Given the description of an element on the screen output the (x, y) to click on. 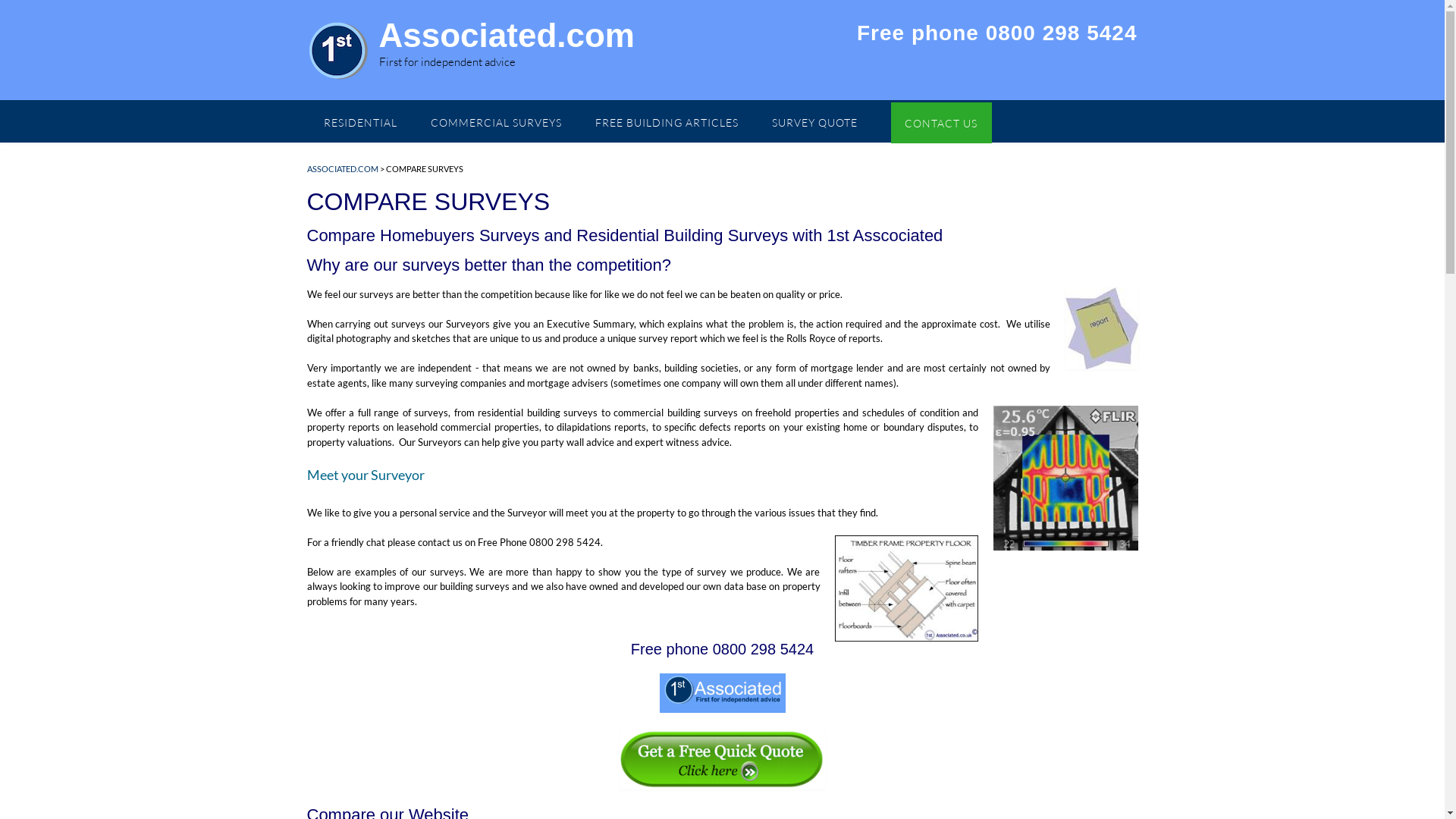
SURVEY QUOTE Element type: text (814, 121)
COMMERCIAL SURVEYS Element type: text (496, 121)
RESIDENTIAL Element type: text (359, 121)
Associated.com Element type: text (506, 35)
ASSOCIATED.COM Element type: text (341, 168)
FREE BUILDING ARTICLES Element type: text (665, 121)
CONTACT US Element type: text (940, 121)
Associated.com Element type: hover (342, 51)
